Given the description of an element on the screen output the (x, y) to click on. 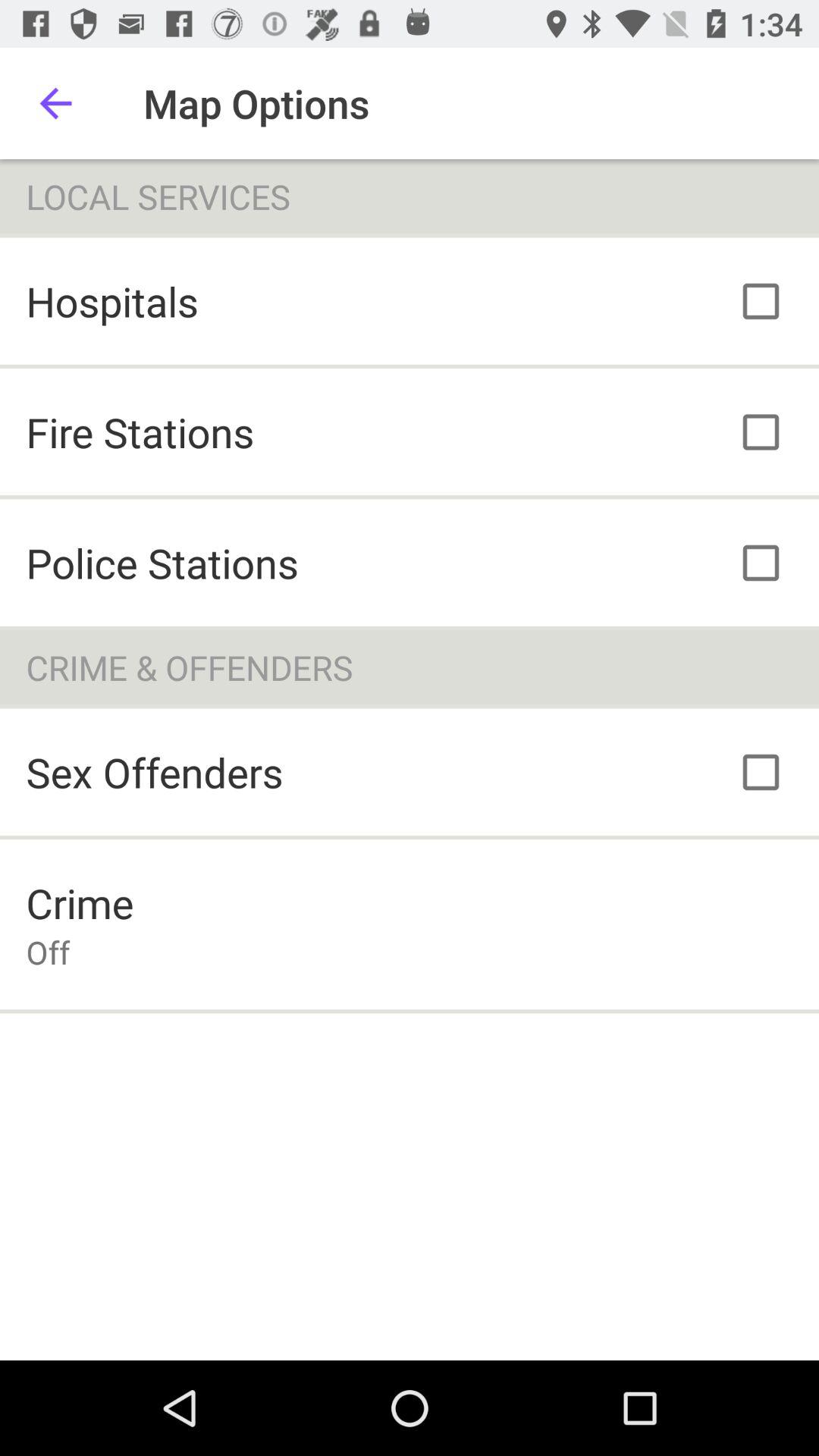
open icon below the hospitals (140, 431)
